Given the description of an element on the screen output the (x, y) to click on. 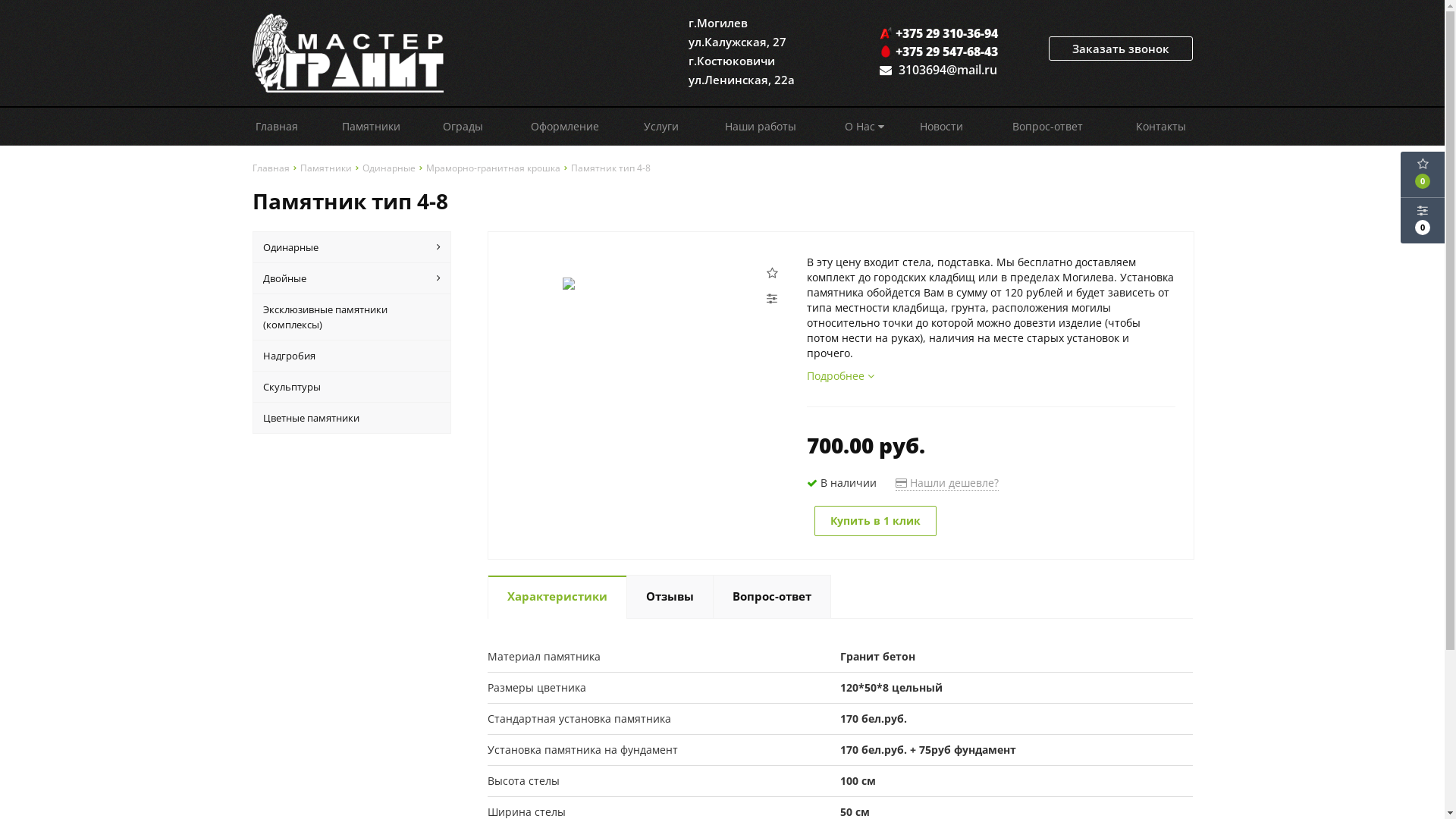
+375 29 547-68-43 Element type: text (940, 51)
+375 29 310-36-94 Element type: text (940, 33)
3103694@mail.ru Element type: text (946, 69)
0 Element type: text (1422, 174)
0 Element type: text (1422, 220)
